Given the description of an element on the screen output the (x, y) to click on. 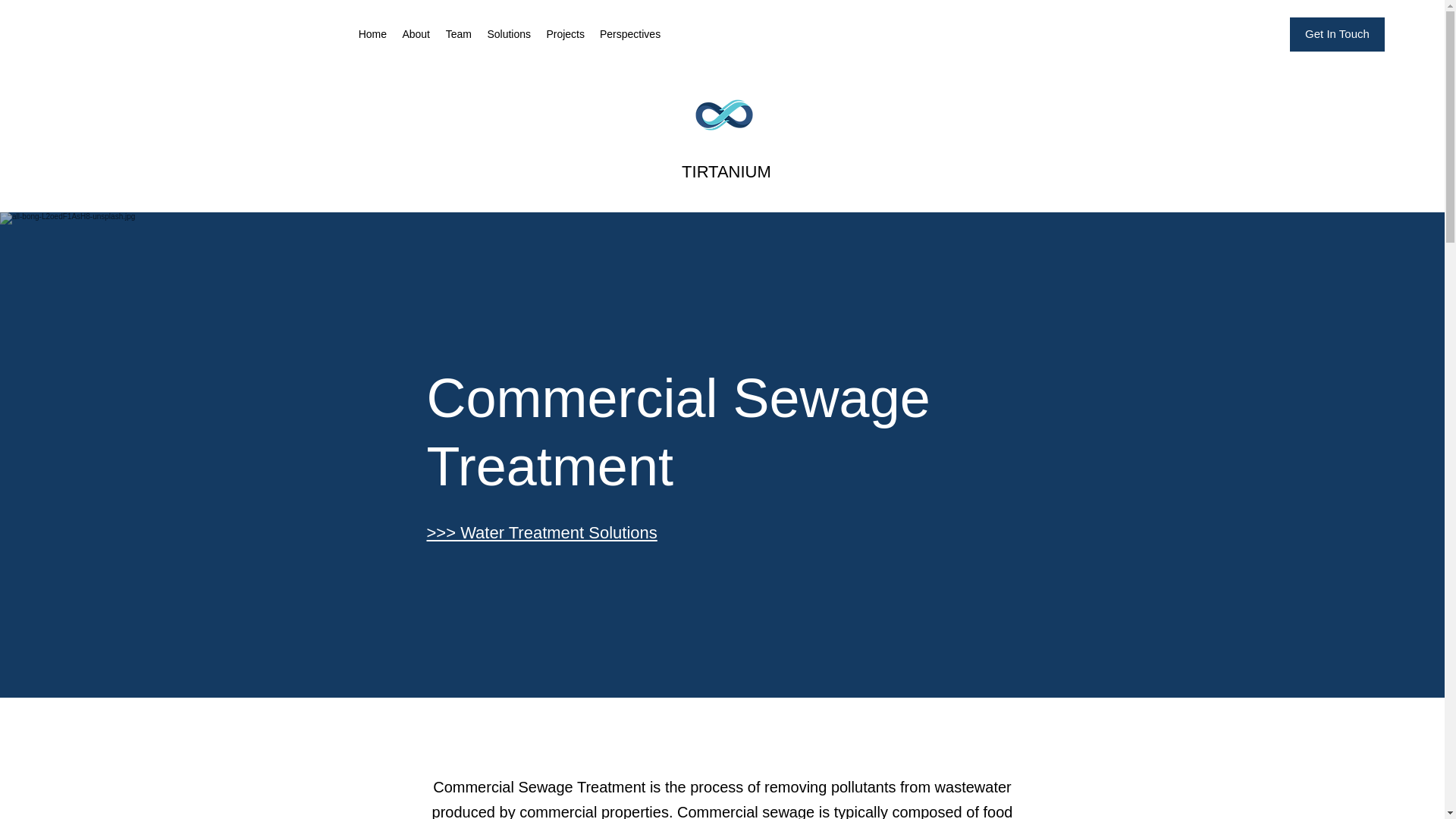
Home (372, 33)
Solutions (508, 33)
Get In Touch (1337, 34)
About (416, 33)
Team (458, 33)
Perspectives (630, 33)
Projects (565, 33)
